Given the description of an element on the screen output the (x, y) to click on. 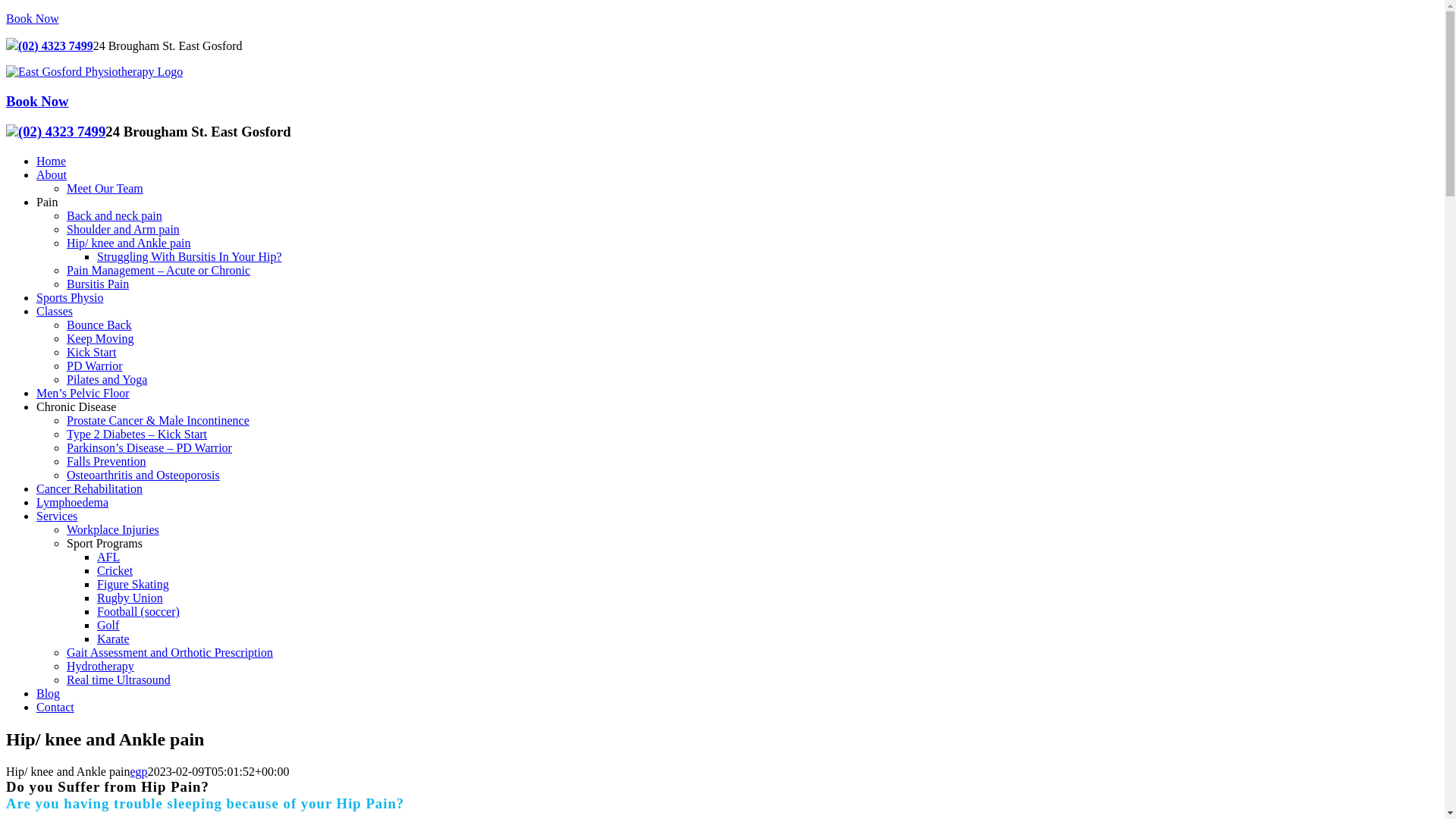
Prostate Cancer & Male Incontinence Element type: text (157, 420)
Falls Prevention Element type: text (105, 461)
Cricket Element type: text (114, 570)
Lymphoedema Element type: text (72, 501)
Blog Element type: text (47, 693)
Sport Programs Element type: text (104, 542)
Struggling With Bursitis In Your Hip? Element type: text (189, 256)
Back and neck pain Element type: text (114, 215)
Sports Physio Element type: text (69, 297)
Osteoarthritis and Osteoporosis Element type: text (142, 474)
AFL Element type: text (108, 556)
Services Element type: text (56, 515)
Pain Element type: text (46, 201)
Workplace Injuries Element type: text (112, 529)
Meet Our Team Element type: text (104, 188)
(02) 4323 7499 Element type: text (55, 45)
Skip to content Element type: text (5, 11)
Gait Assessment and Orthotic Prescription Element type: text (169, 652)
Hydrotherapy Element type: text (100, 665)
Cancer Rehabilitation Element type: text (89, 488)
PD Warrior Element type: text (94, 365)
Home Element type: text (50, 160)
Football (soccer) Element type: text (138, 611)
Golf Element type: text (108, 624)
(02) 4323 7499 Element type: text (61, 131)
Book Now Element type: text (32, 18)
Kick Start Element type: text (91, 351)
Real time Ultrasound Element type: text (118, 679)
Pilates and Yoga Element type: text (106, 379)
Book Now Element type: text (37, 101)
Bursitis Pain Element type: text (97, 283)
Classes Element type: text (54, 310)
egp Element type: text (138, 771)
Hip/ knee and Ankle pain Element type: text (128, 242)
Rugby Union Element type: text (130, 597)
Chronic Disease Element type: text (76, 406)
Keep Moving Element type: text (99, 338)
Karate Element type: text (113, 638)
Contact Element type: text (55, 706)
Shoulder and Arm pain Element type: text (122, 228)
Bounce Back Element type: text (98, 324)
Figure Skating Element type: text (133, 583)
About Element type: text (51, 174)
